Given the description of an element on the screen output the (x, y) to click on. 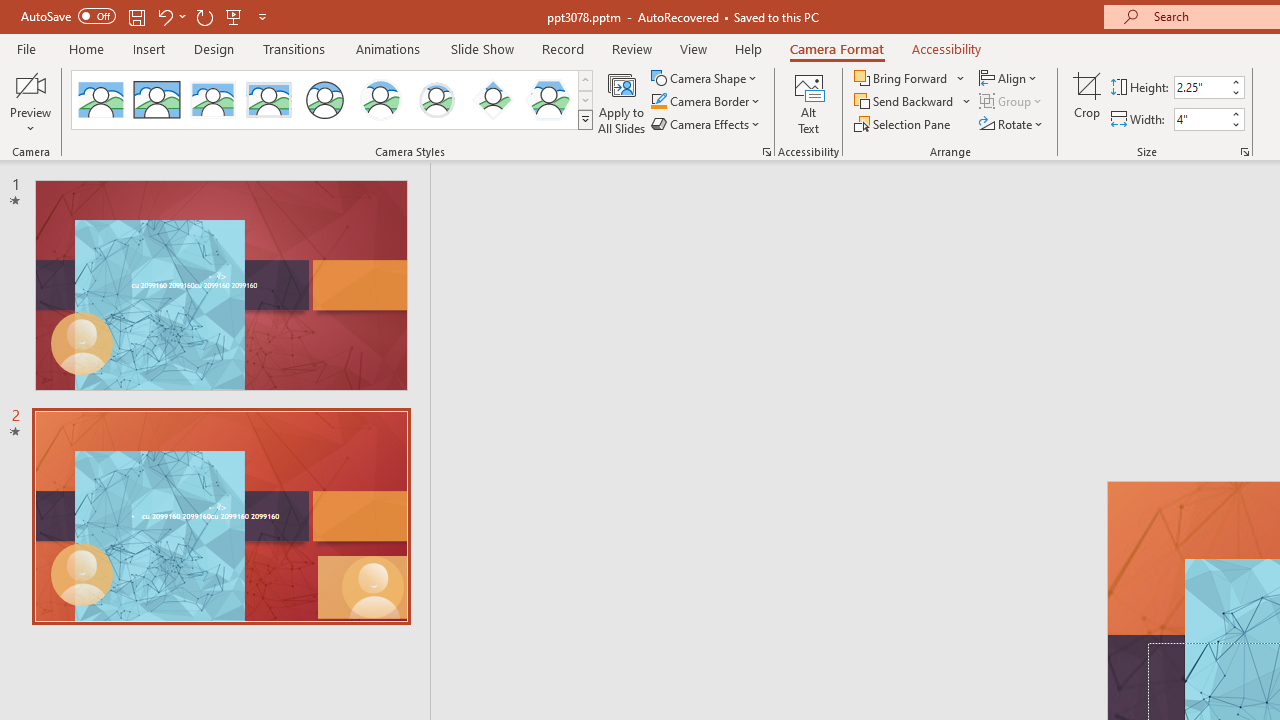
Center Shadow Hexagon (548, 100)
Bring Forward (910, 78)
Align (1009, 78)
Center Shadow Rectangle (212, 100)
Simple Frame Circle (324, 100)
Send Backward (913, 101)
Rotate (1012, 124)
Crop (1087, 102)
AutomationID: CameoStylesGallery (333, 99)
